Given the description of an element on the screen output the (x, y) to click on. 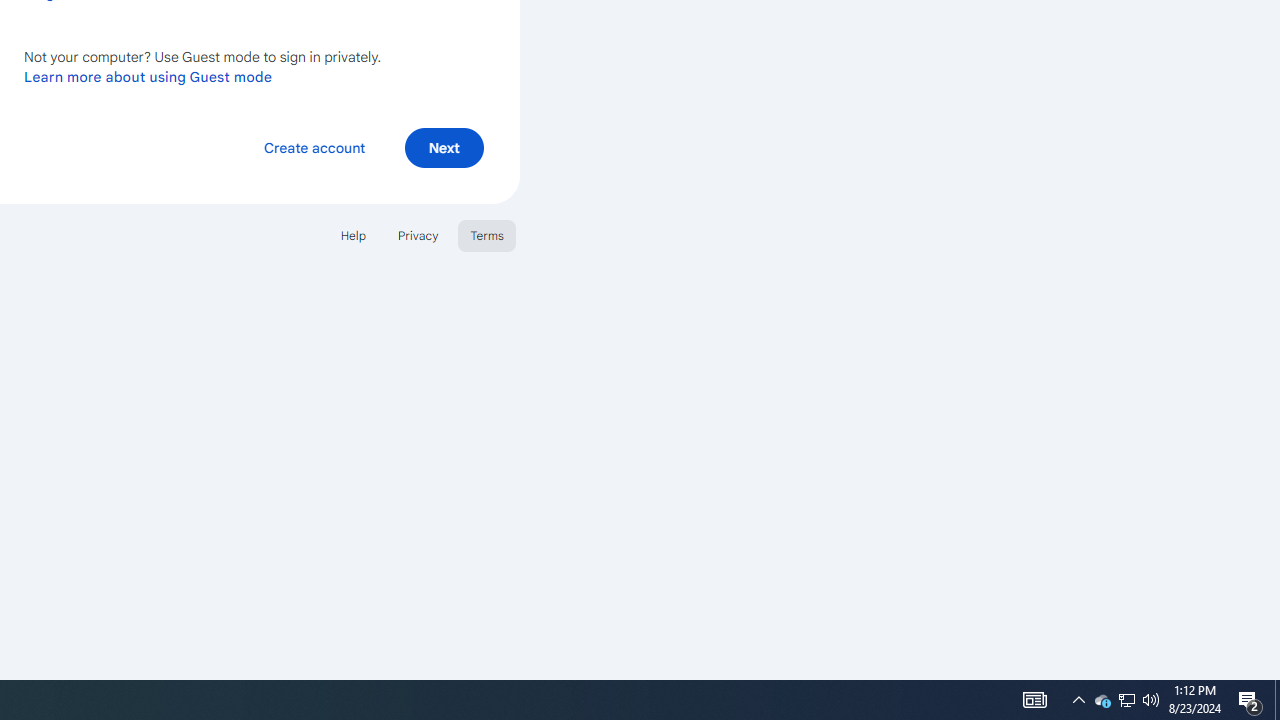
Learn more about using Guest mode (148, 76)
Create account (314, 146)
Next (443, 146)
